Given the description of an element on the screen output the (x, y) to click on. 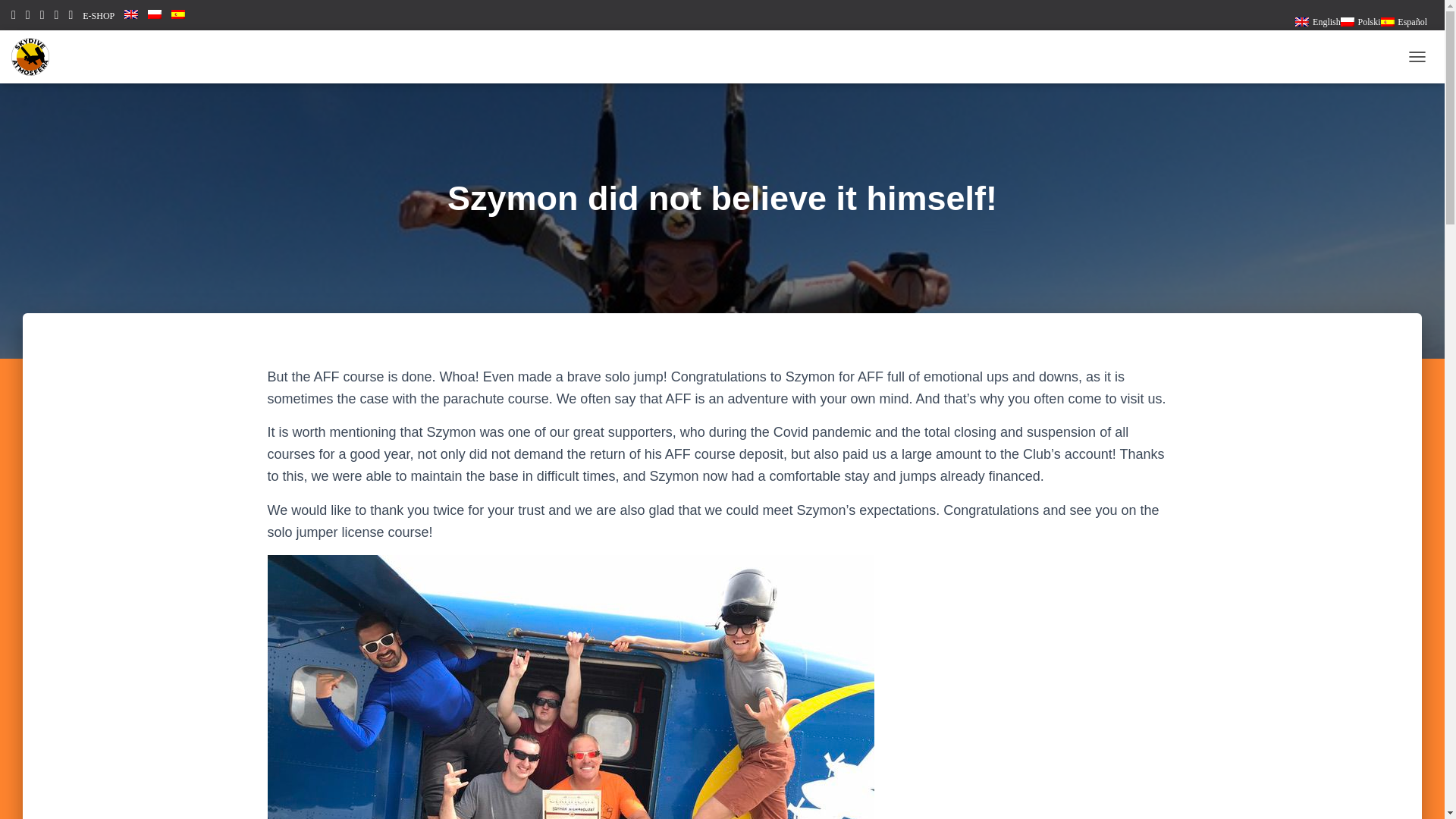
Polski (1360, 21)
Search (790, 801)
English (1317, 21)
Skydive Atmosfera (30, 56)
TOGGLE NAVIGATION (1416, 56)
E-SHOP (98, 15)
E-SHOP (98, 15)
